Given the description of an element on the screen output the (x, y) to click on. 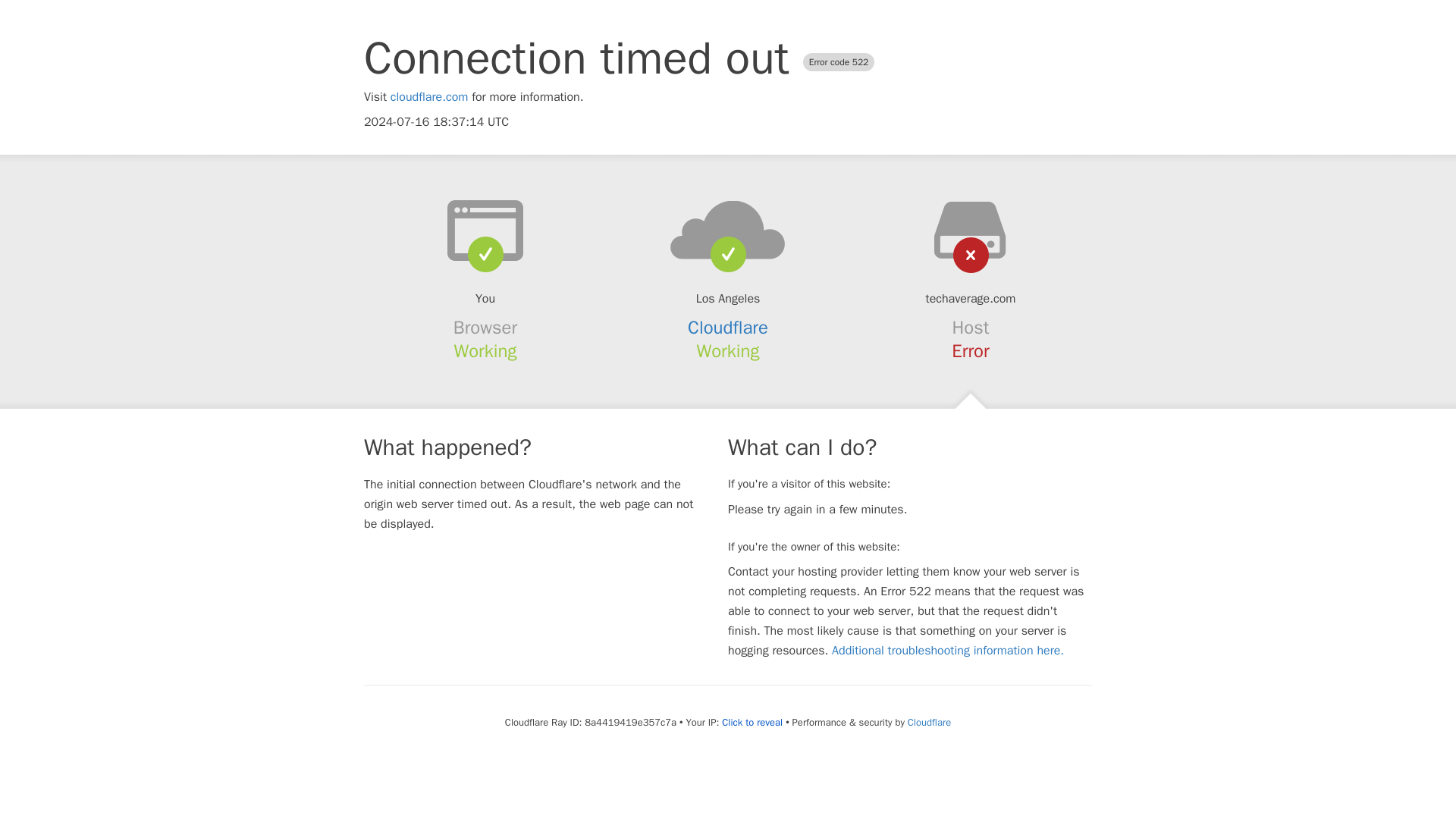
cloudflare.com (429, 96)
Cloudflare (928, 721)
Cloudflare (727, 327)
Additional troubleshooting information here. (947, 650)
Click to reveal (752, 722)
